Given the description of an element on the screen output the (x, y) to click on. 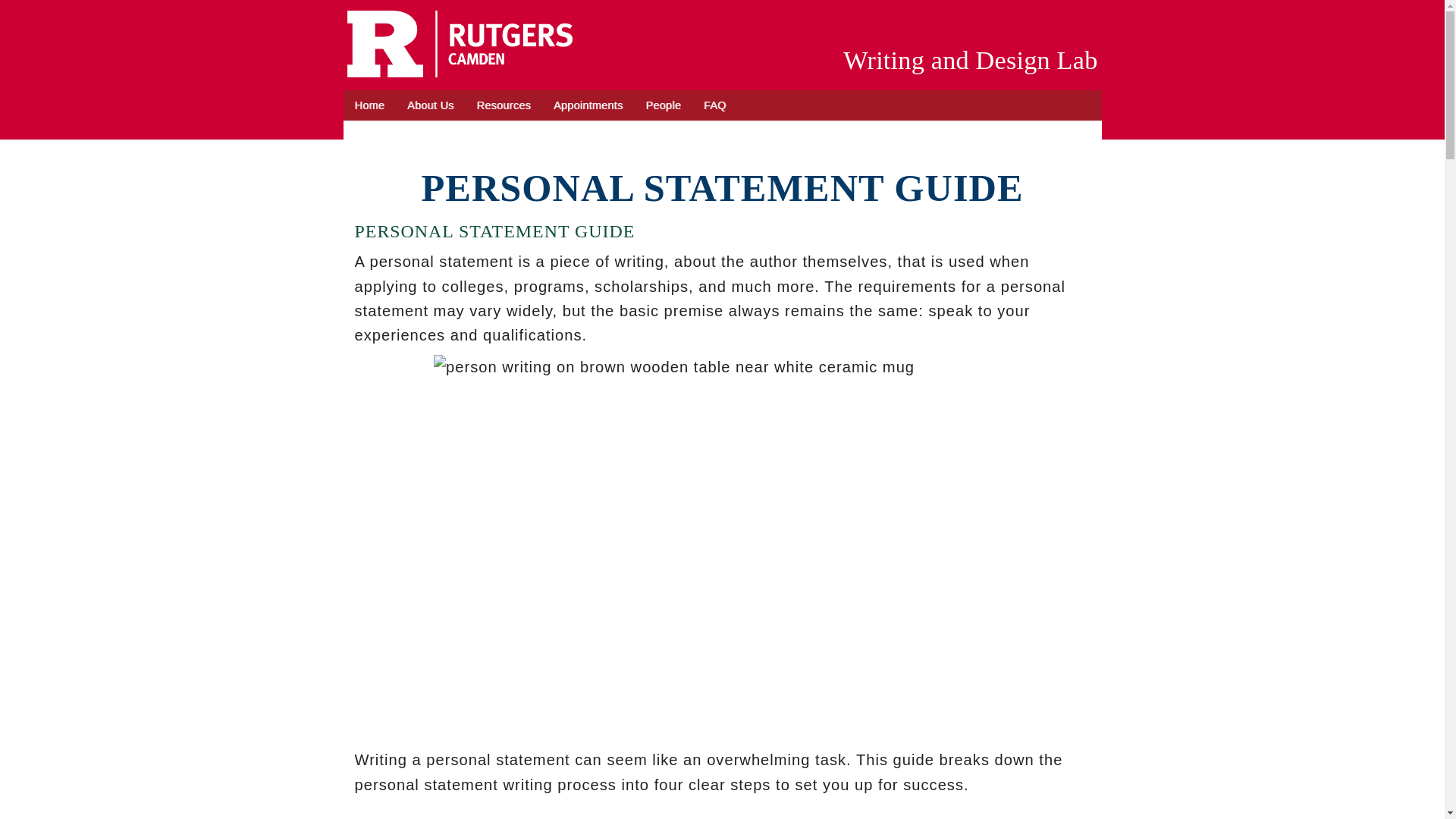
About Us (430, 105)
FAQ (715, 105)
Writing and Design Lab (970, 59)
People (663, 105)
Home (369, 105)
Appointments (587, 105)
Resources (503, 105)
